Given the description of an element on the screen output the (x, y) to click on. 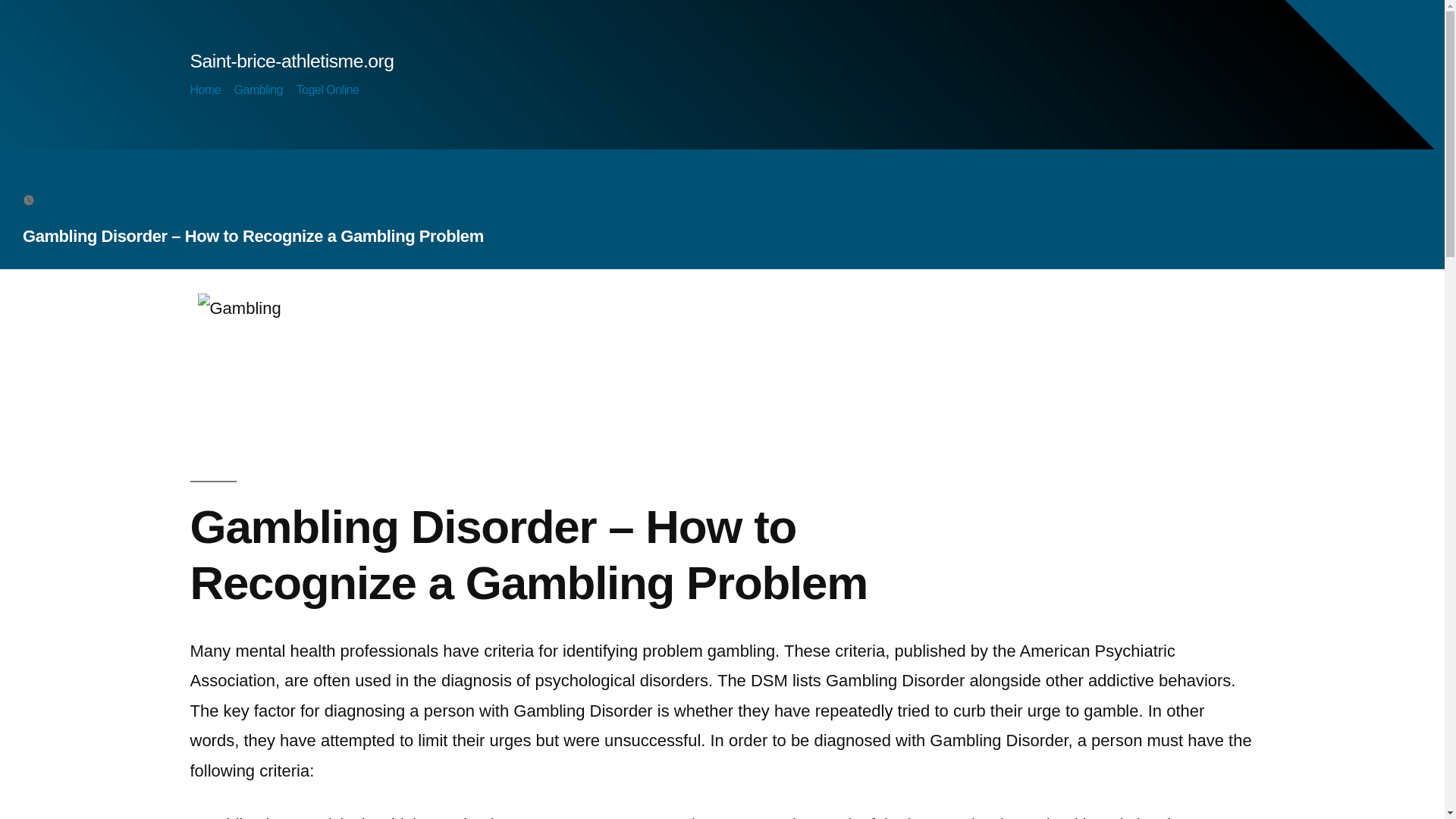
February 26, 2022 (89, 198)
Togel Online (328, 89)
Gambling (258, 89)
Saint-brice-athletisme.org (291, 60)
Home (205, 89)
